Given the description of an element on the screen output the (x, y) to click on. 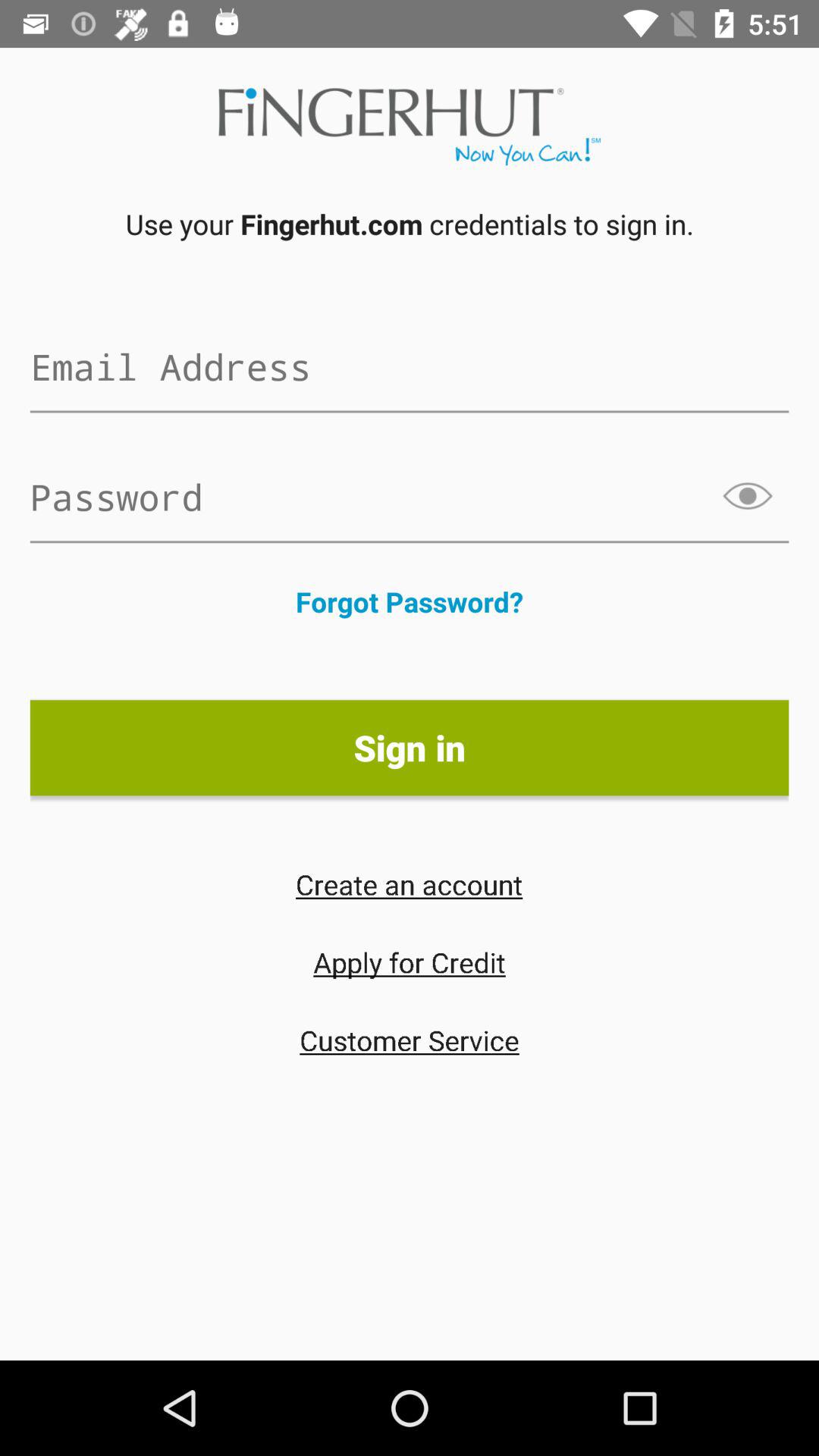
scroll to forgot password? icon (409, 601)
